Given the description of an element on the screen output the (x, y) to click on. 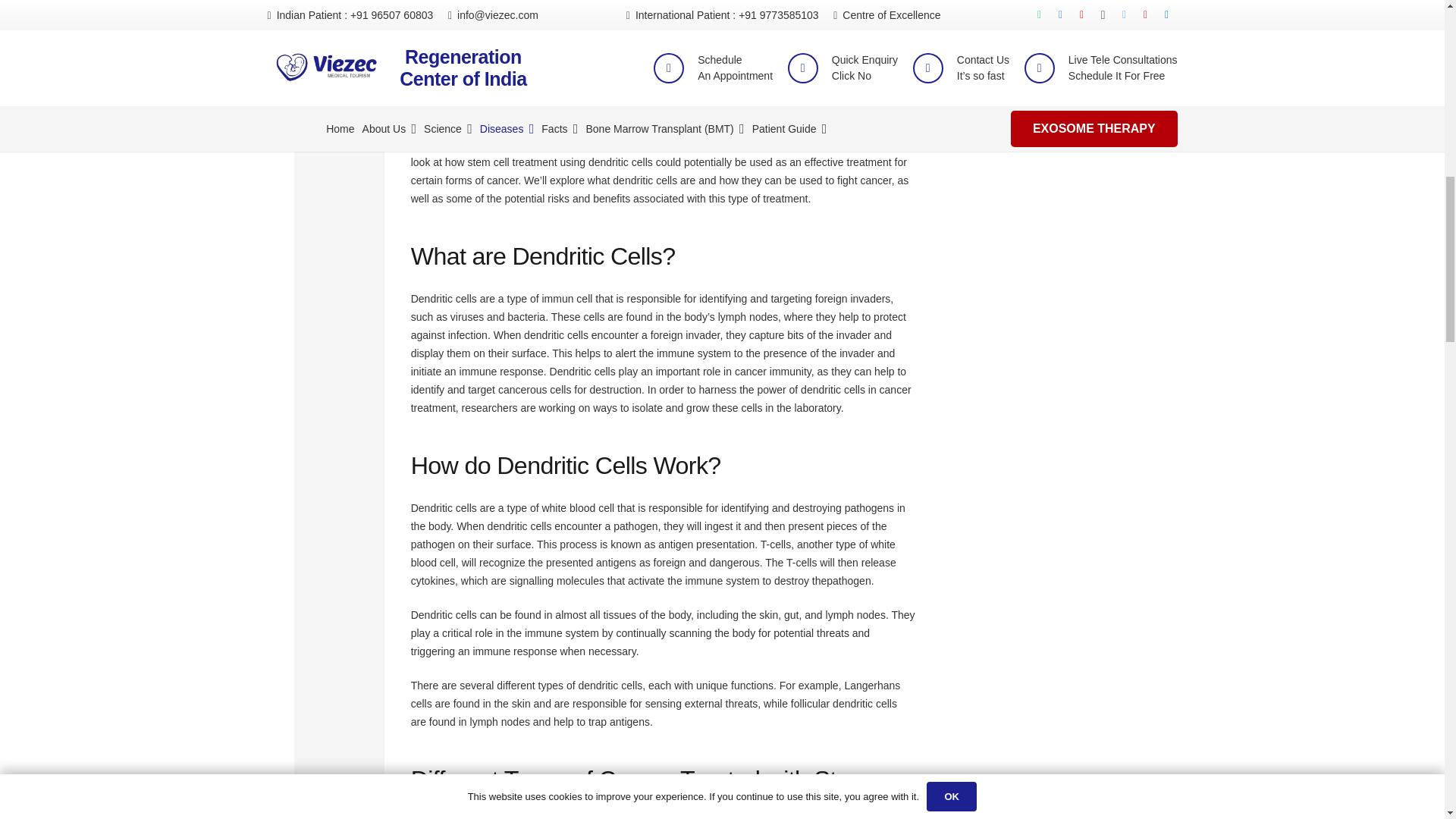
Overview (339, 34)
